Given the description of an element on the screen output the (x, y) to click on. 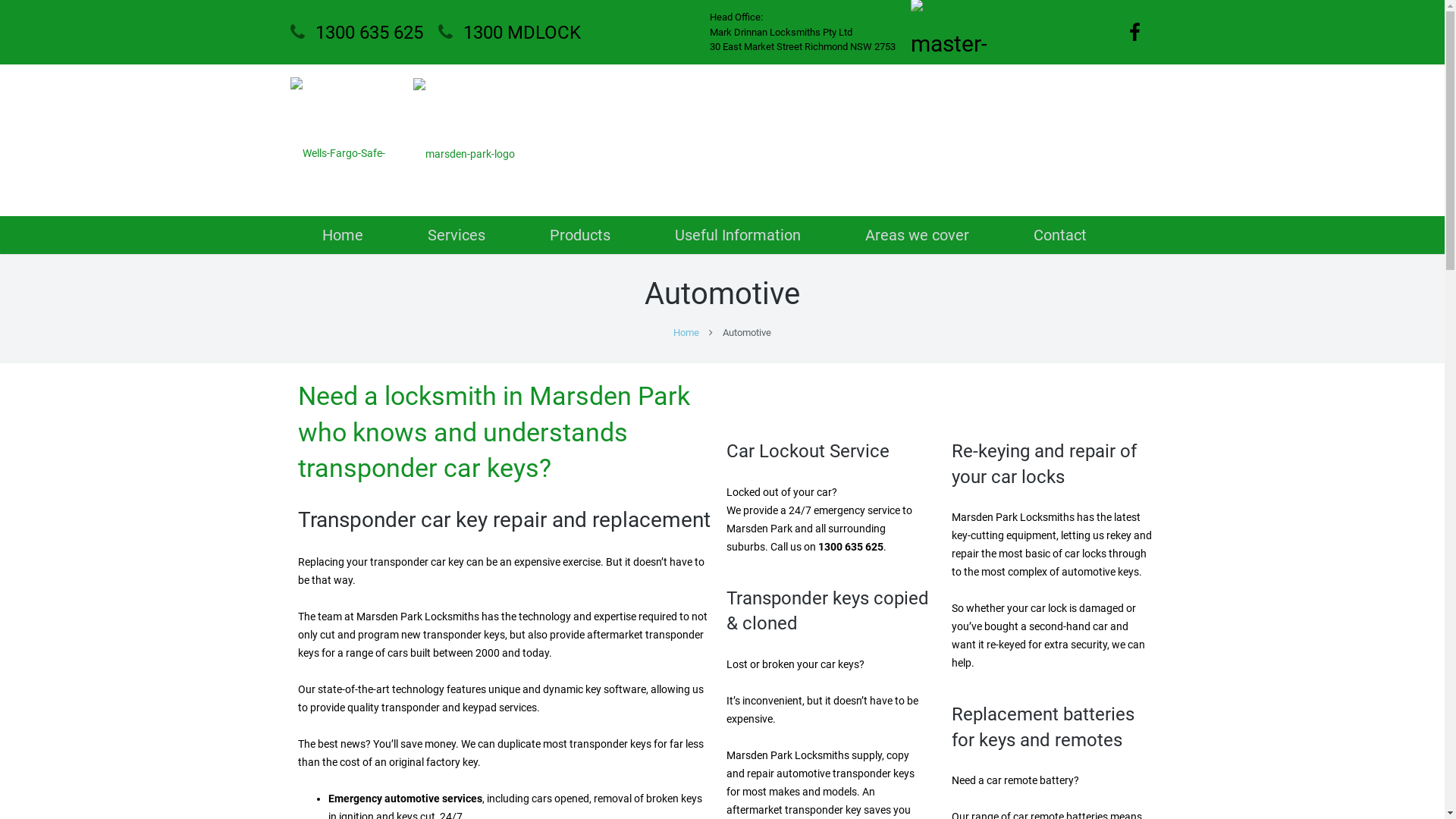
Useful Information Element type: text (738, 235)
Services Element type: text (456, 235)
Home Element type: text (686, 332)
Products Element type: text (579, 235)
Contact Element type: text (1059, 235)
Areas we cover Element type: text (916, 235)
Home Element type: text (342, 235)
